Given the description of an element on the screen output the (x, y) to click on. 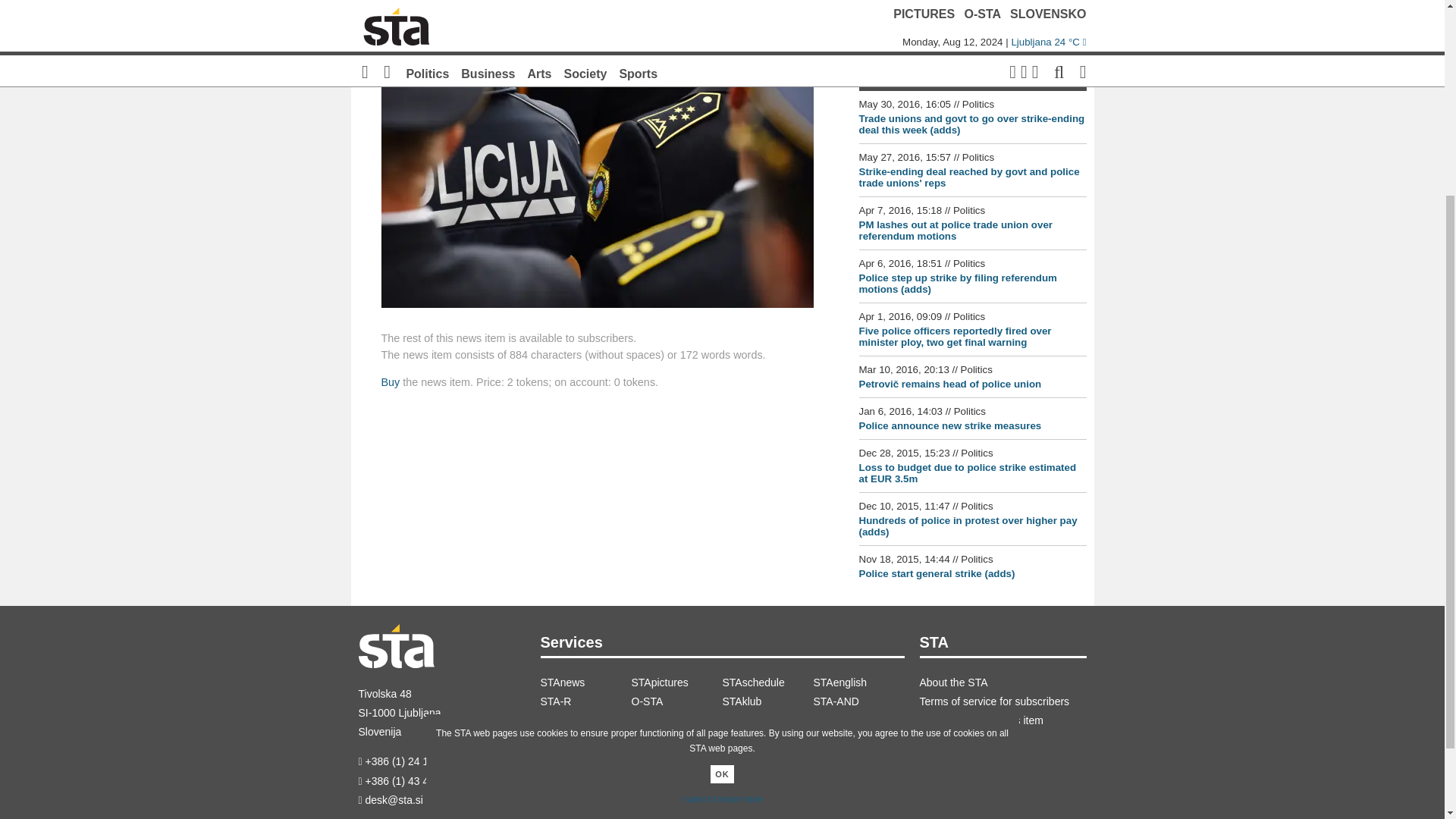
STAenglish (858, 682)
STAschedule (767, 682)
PM lashes out at police trade union over referendum motions (955, 230)
STAkrog (585, 720)
STApictures (676, 682)
O-STA (676, 701)
Police announce new strike measures (950, 425)
Buy (389, 381)
